Given the description of an element on the screen output the (x, y) to click on. 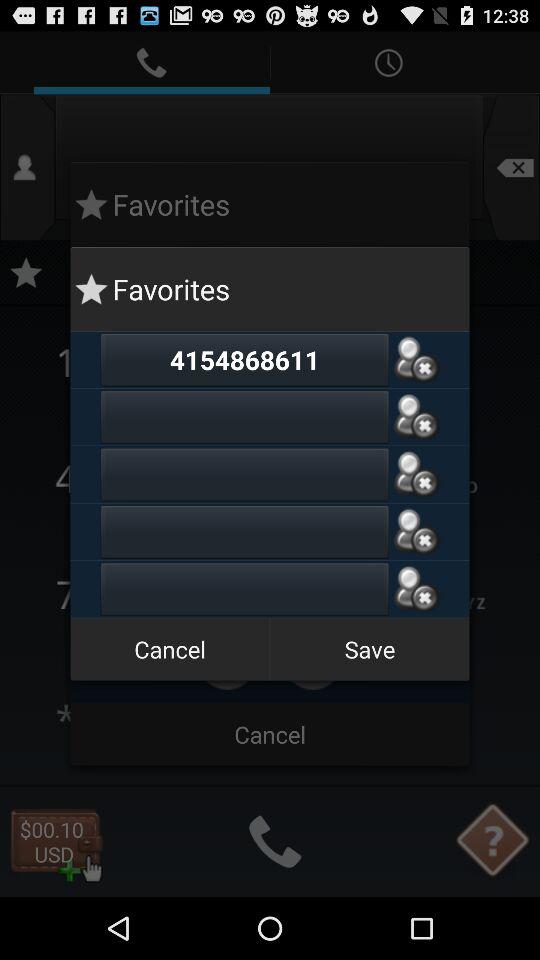
cancel the favorite (416, 359)
